Given the description of an element on the screen output the (x, y) to click on. 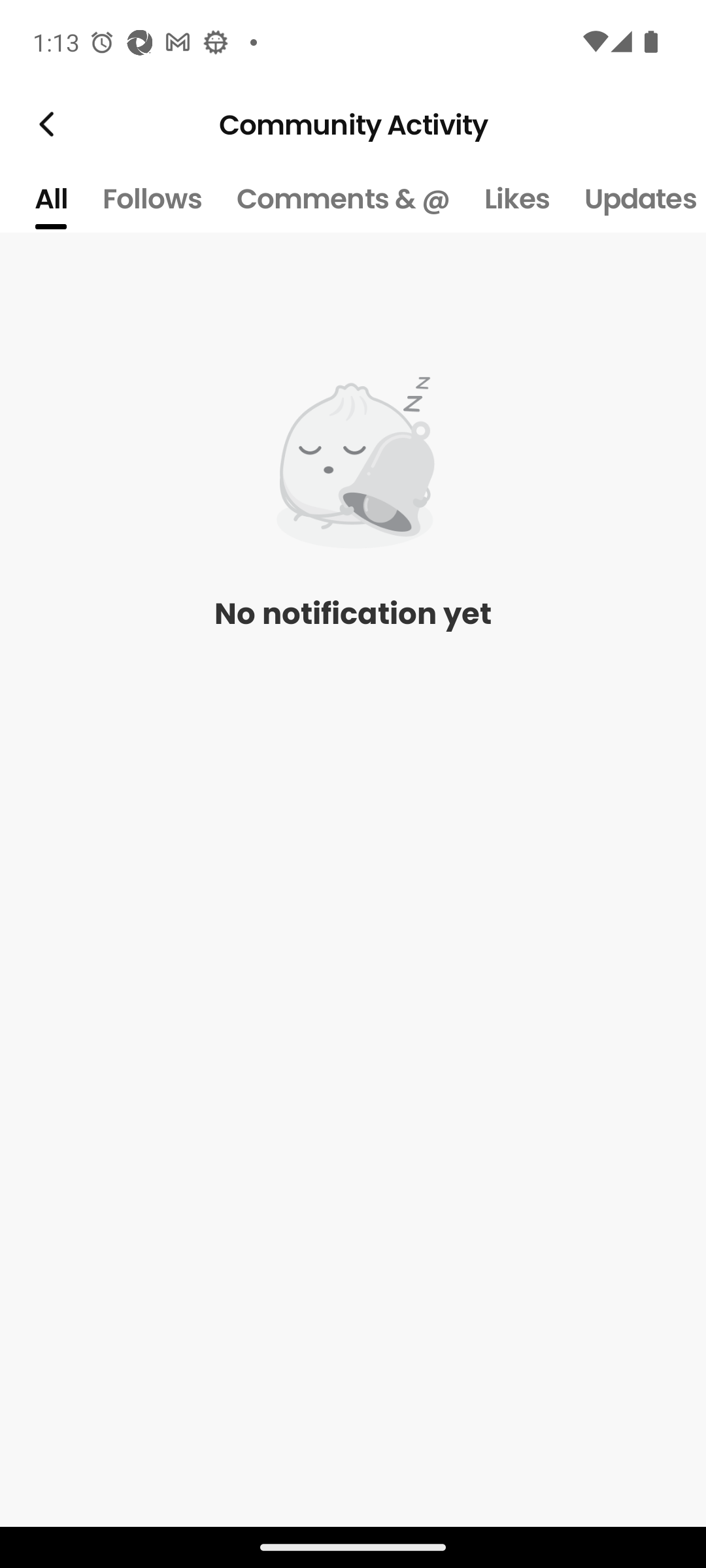
All (50, 199)
Follows (151, 199)
Comments & @ (342, 199)
Likes (516, 199)
Updates (636, 199)
